Given the description of an element on the screen output the (x, y) to click on. 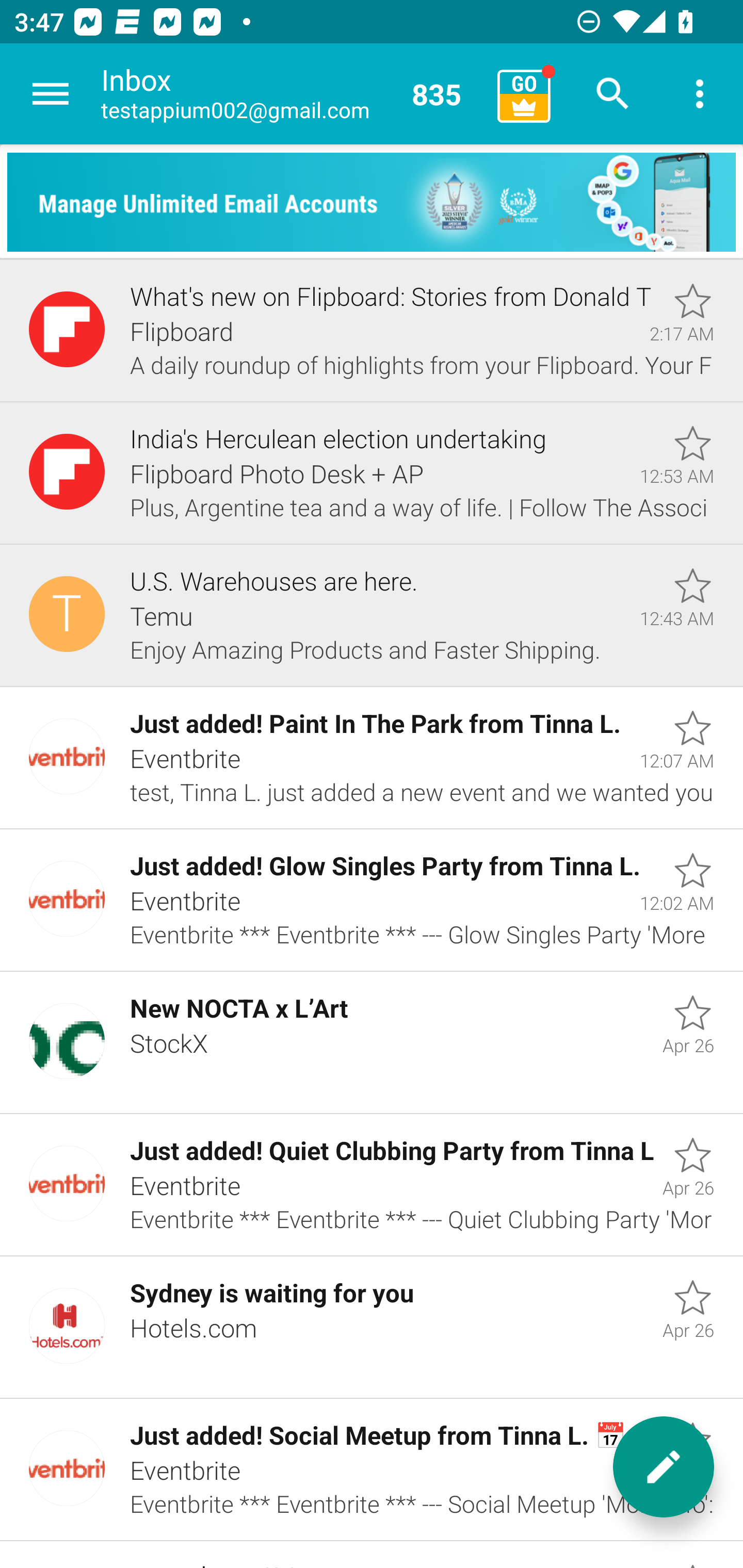
Navigate up (50, 93)
Inbox testappium002@gmail.com 835 (291, 93)
Search (612, 93)
More options (699, 93)
Unread, New NOCTA x L’Art, StockX, Apr 26 (371, 1043)
New message (663, 1466)
